Given the description of an element on the screen output the (x, y) to click on. 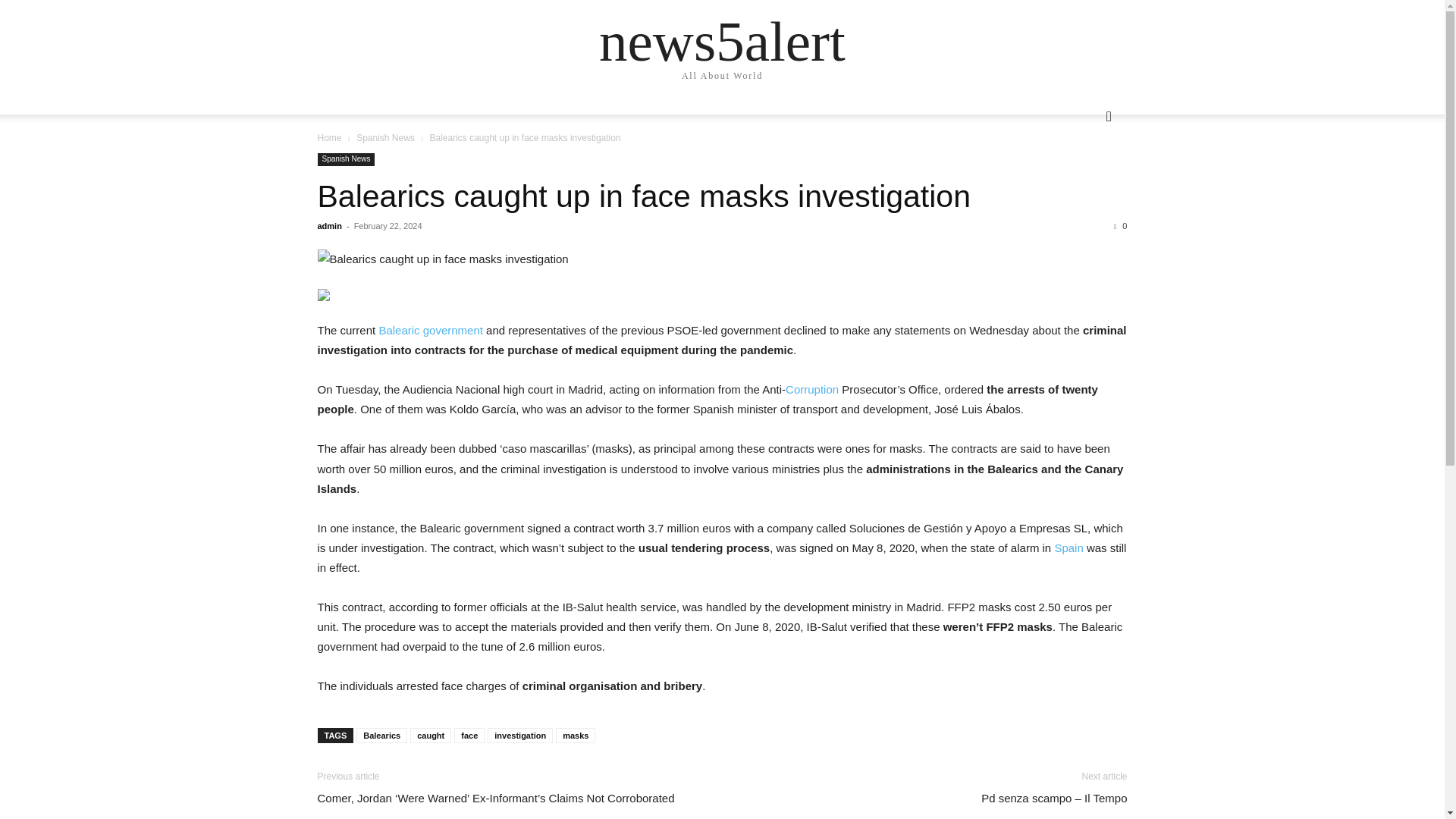
investigation (520, 735)
Spanish News (345, 159)
face (469, 735)
0 (1119, 225)
Balearic government (430, 329)
Search (1085, 177)
Balearics caught up in face masks investigation (643, 196)
Spain (1068, 547)
Corruption (812, 389)
caught (430, 735)
Balearics caught up in face masks investigation (643, 196)
admin (328, 225)
Balearics (381, 735)
masks (575, 735)
Home (328, 137)
